Given the description of an element on the screen output the (x, y) to click on. 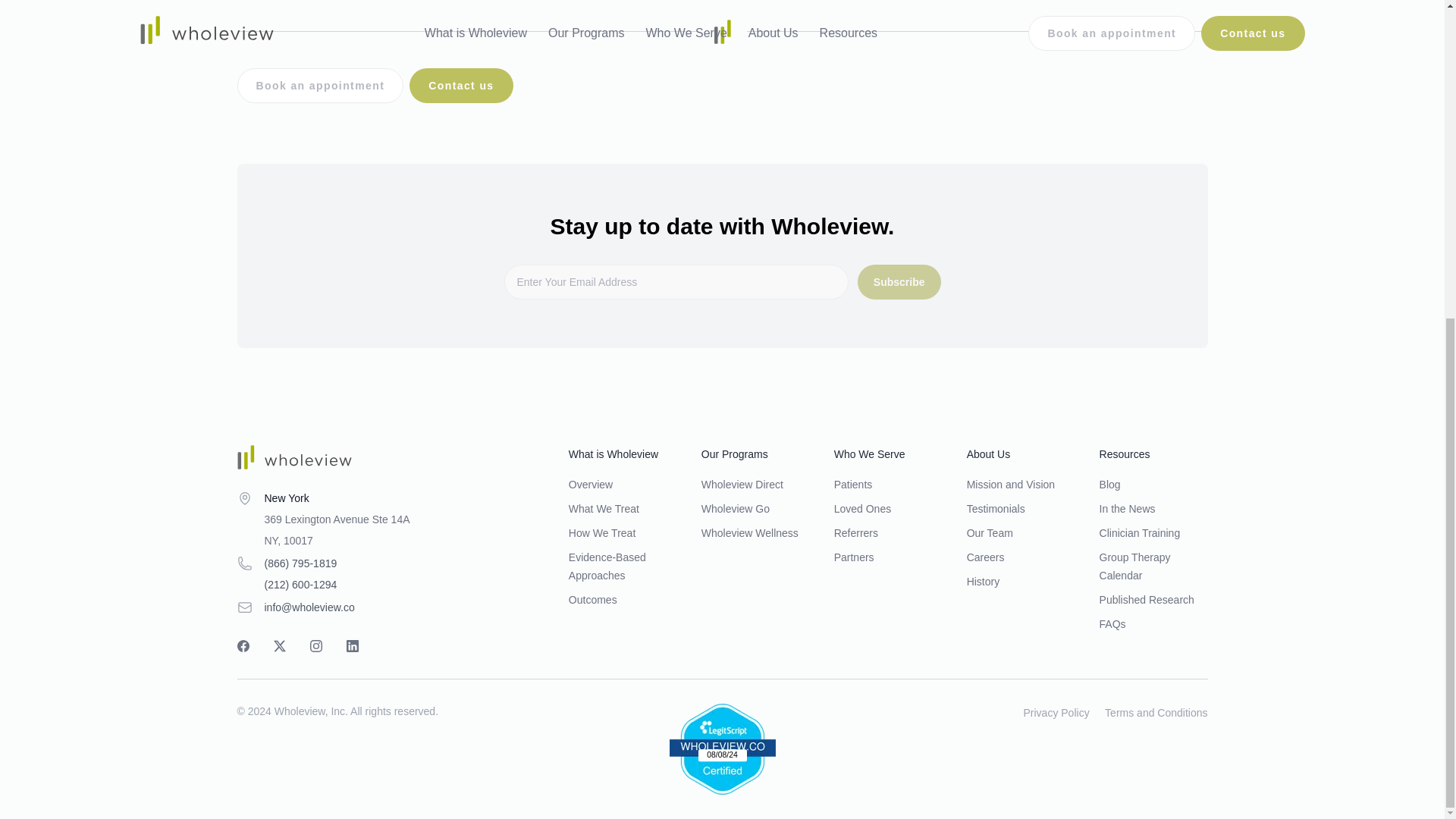
Subscribe (898, 281)
Book an appointment (319, 85)
Contact us (460, 85)
Subscribe (898, 281)
